Given the description of an element on the screen output the (x, y) to click on. 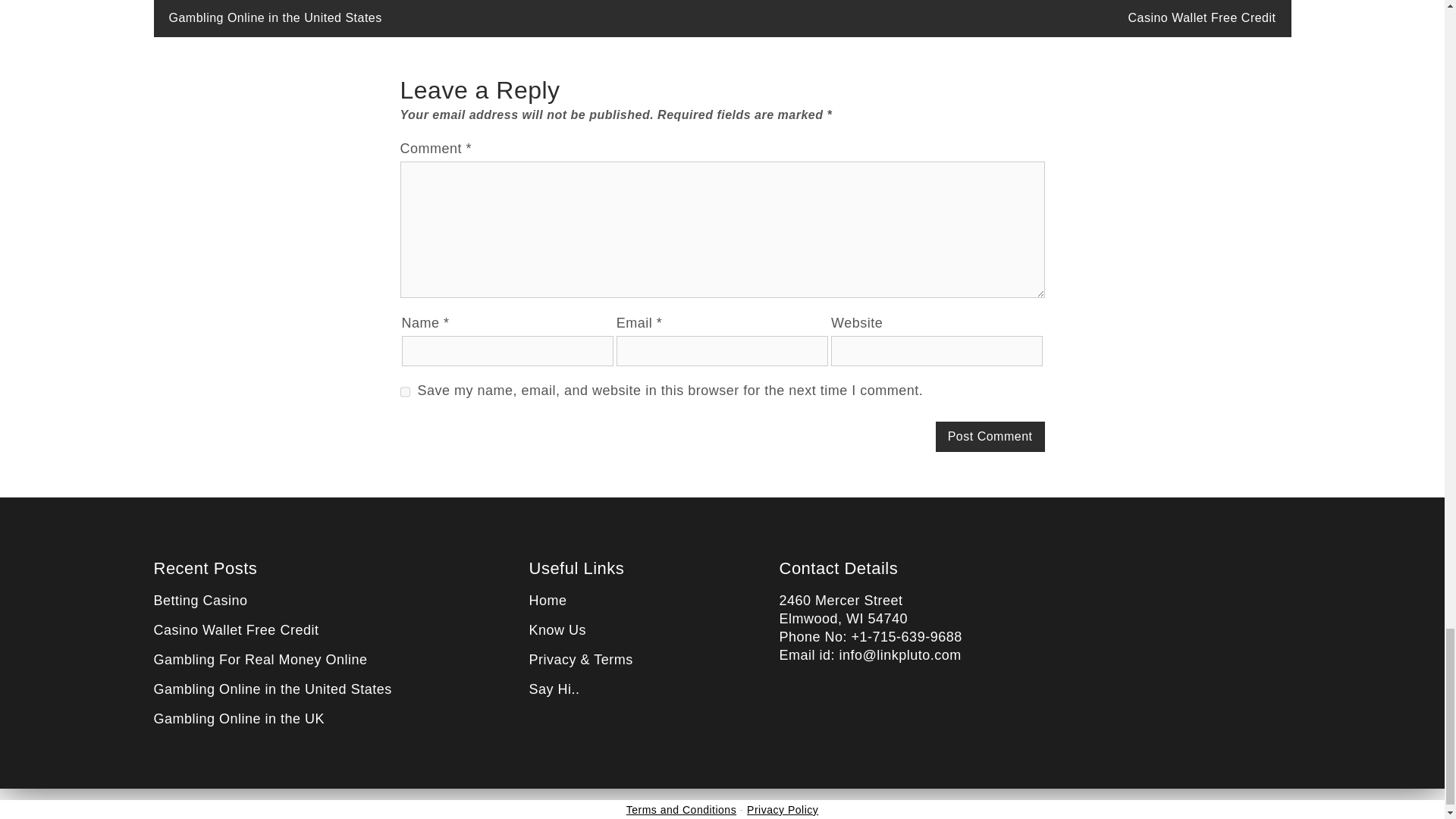
Know Us (557, 630)
Gambling Online in the UK (238, 718)
Gambling For Real Money Online (259, 659)
Terms and Conditions (681, 809)
Post Comment (990, 436)
Say Hi.. (554, 688)
Betting Casino (199, 600)
Casino Wallet Free Credit (235, 630)
Privacy Policy (782, 809)
Casino Wallet Free Credit (1200, 17)
Gambling Online in the United States (274, 17)
Home (548, 600)
Post Comment (990, 436)
Gambling Online in the United States (271, 688)
